Given the description of an element on the screen output the (x, y) to click on. 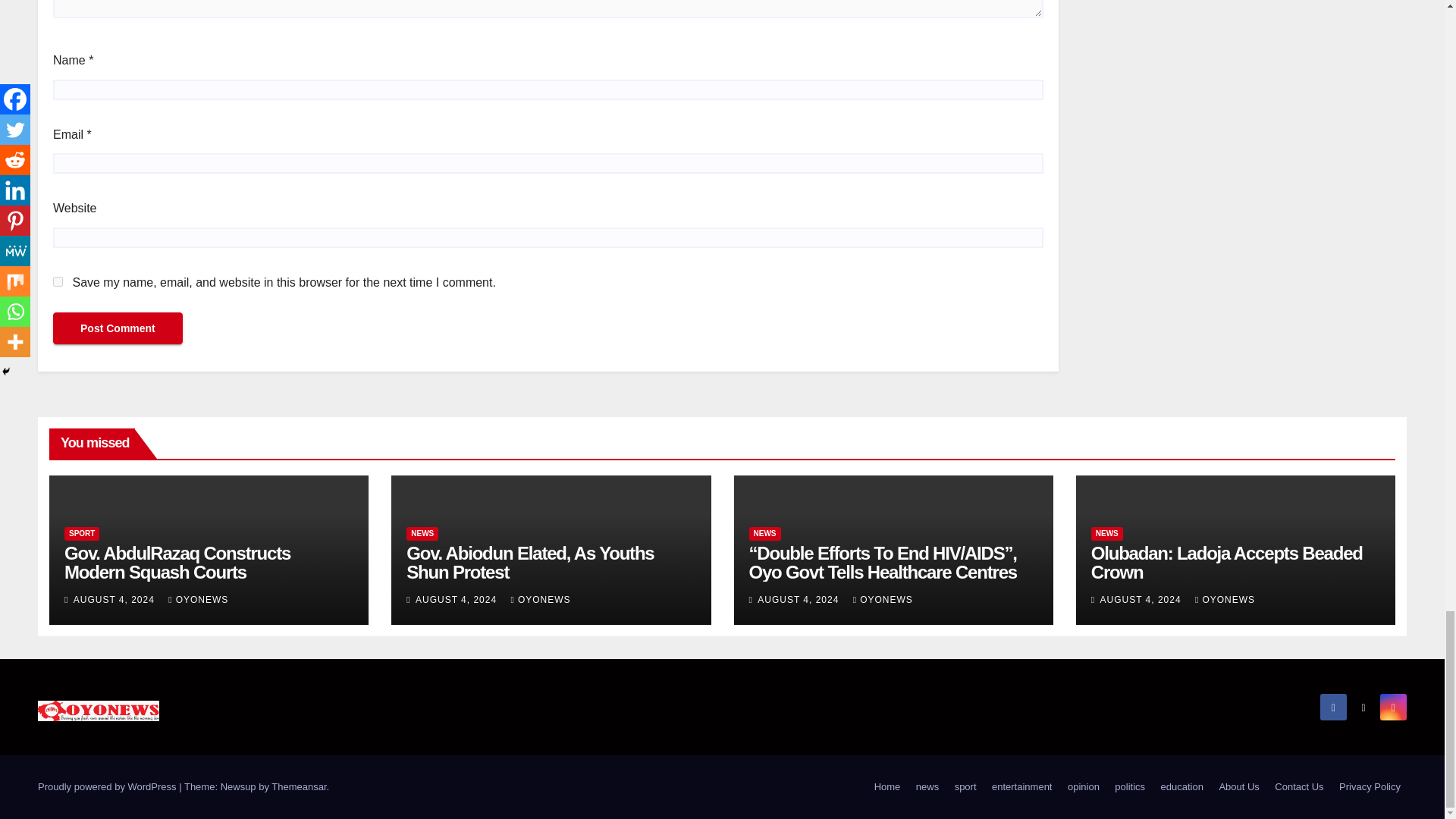
yes (57, 281)
Post Comment (117, 327)
